Given the description of an element on the screen output the (x, y) to click on. 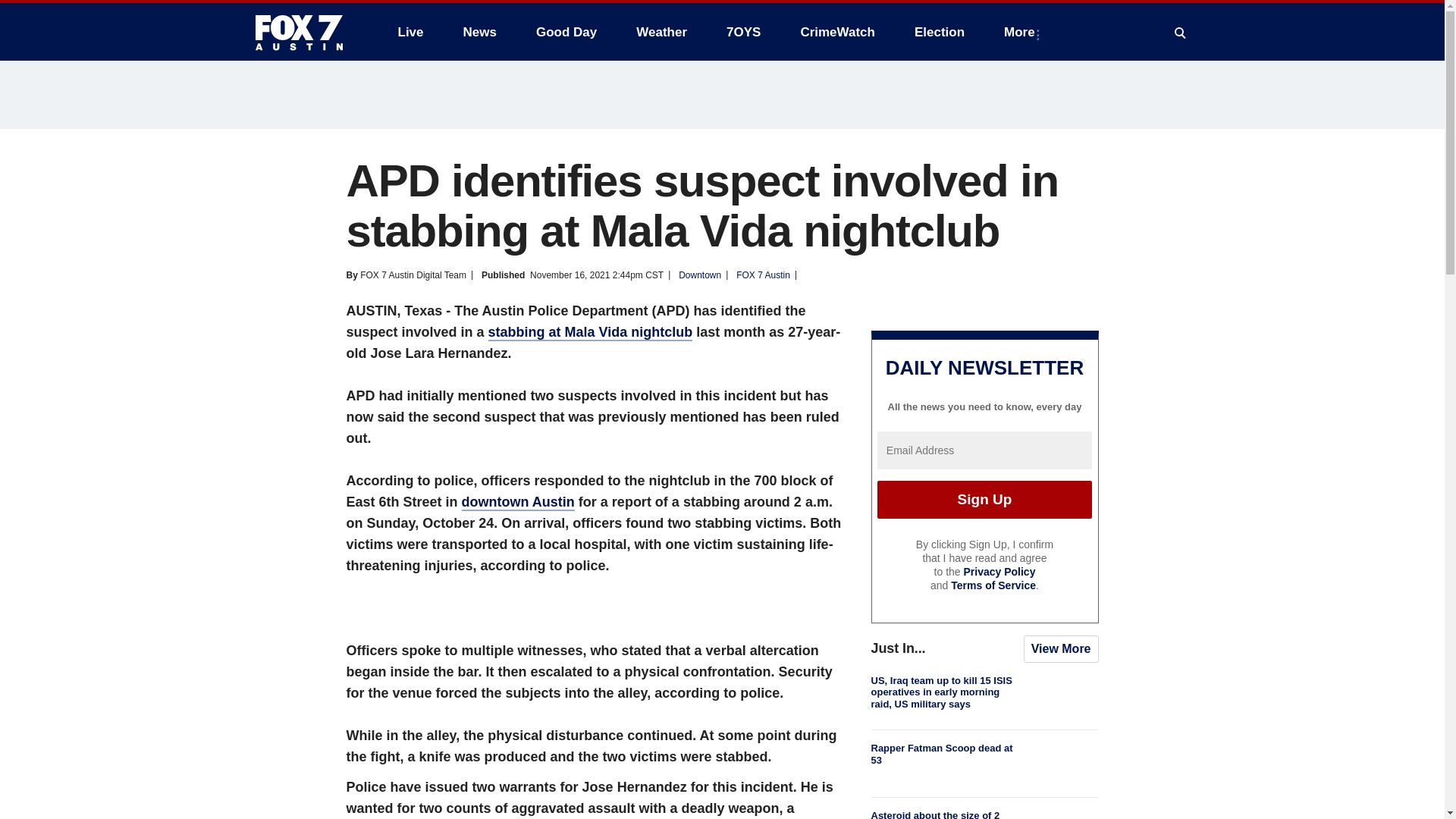
Election (939, 32)
Weather (661, 32)
News (479, 32)
More (1021, 32)
7OYS (743, 32)
CrimeWatch (836, 32)
Sign Up (984, 499)
Good Day (566, 32)
Live (410, 32)
